Given the description of an element on the screen output the (x, y) to click on. 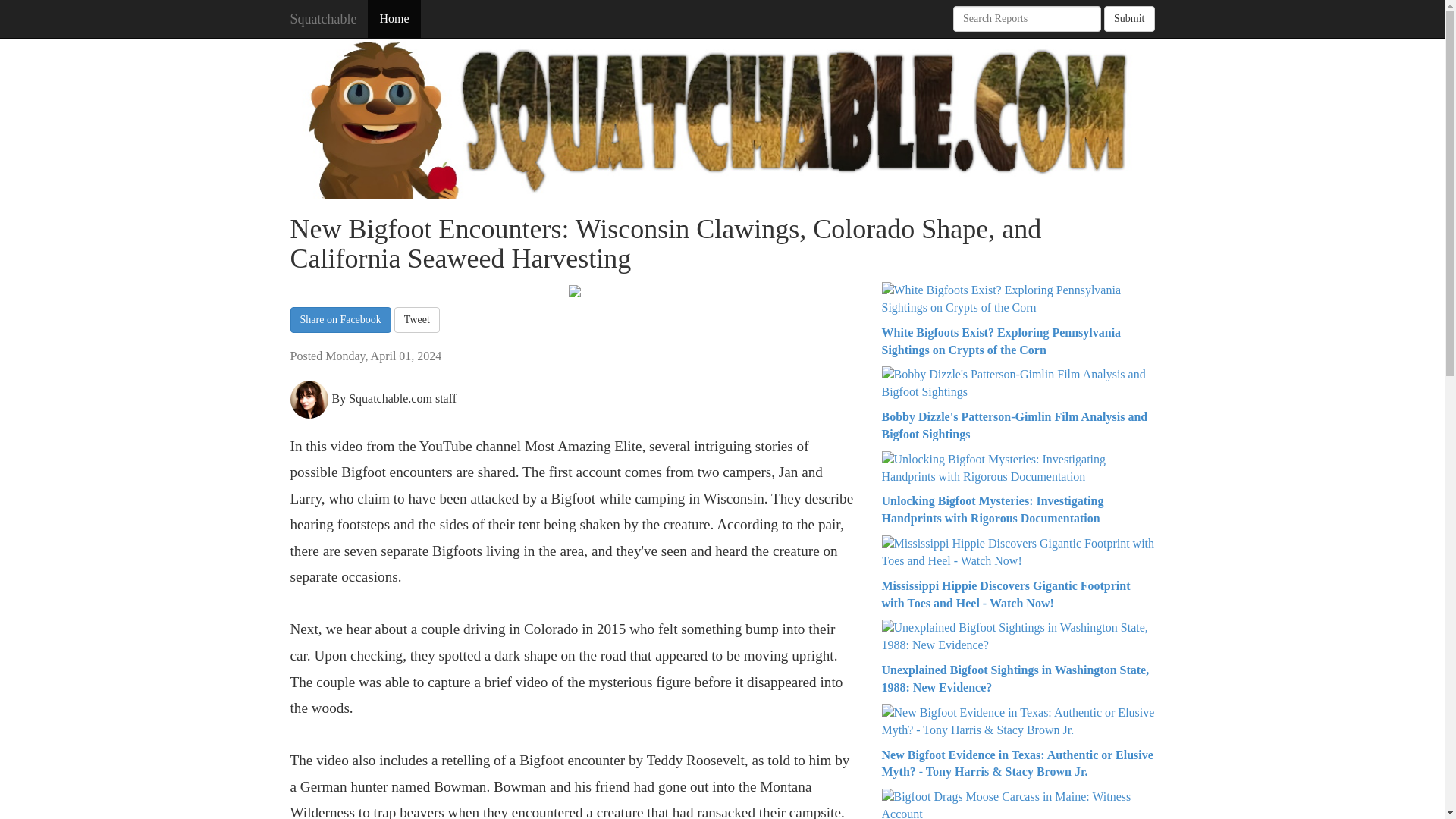
Home (394, 18)
Squatchable (323, 18)
Tweet (416, 319)
Submit (1128, 18)
